Given the description of an element on the screen output the (x, y) to click on. 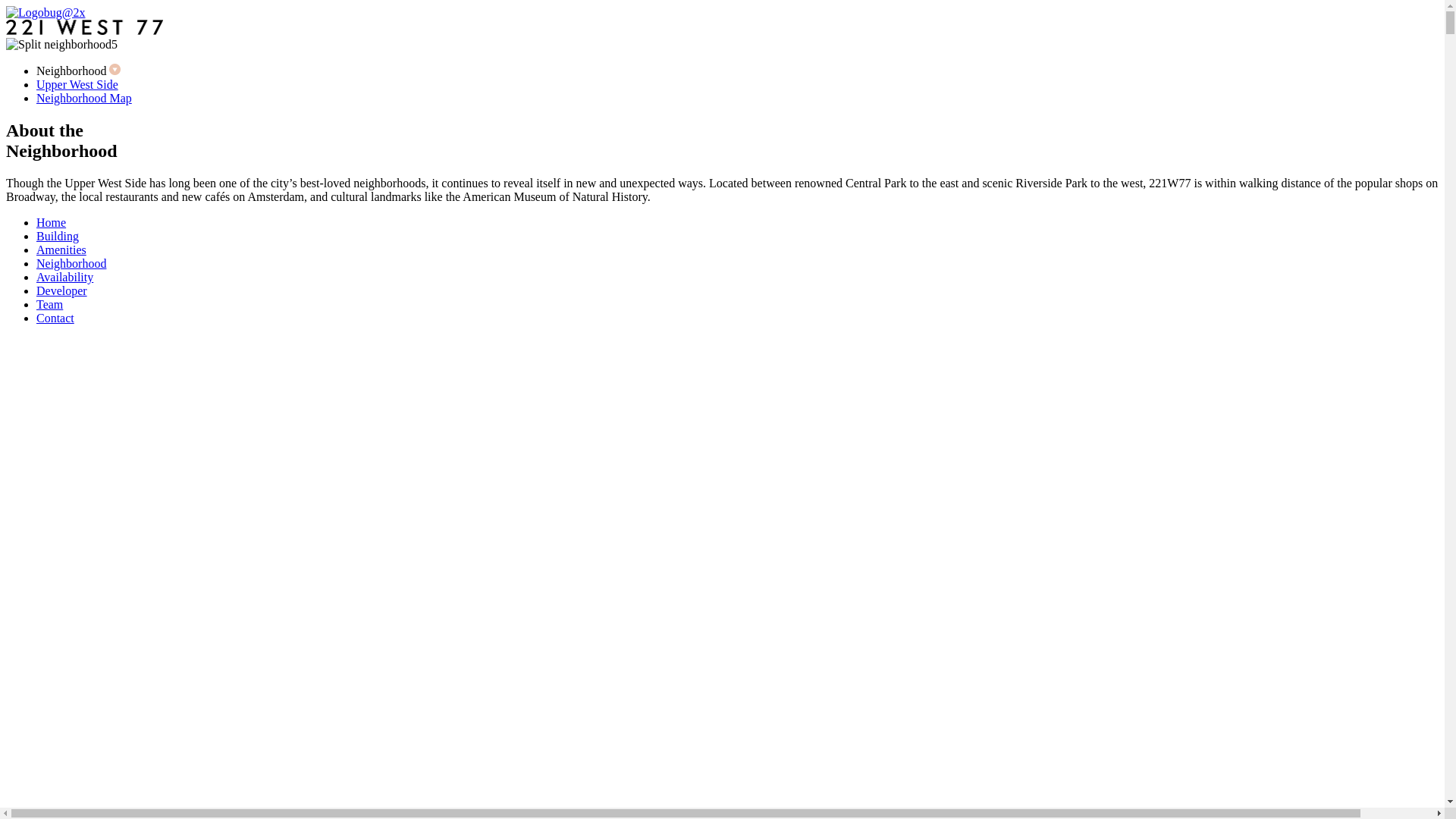
Neighborhood Element type: text (71, 263)
Availability Element type: text (64, 276)
Contact Element type: text (55, 317)
Developer Element type: text (61, 290)
Neighborhood Map Element type: text (83, 97)
Upper West Side Element type: text (77, 84)
Team Element type: text (49, 304)
Building Element type: text (57, 235)
Home Element type: text (50, 222)
Amenities Element type: text (61, 249)
